Given the description of an element on the screen output the (x, y) to click on. 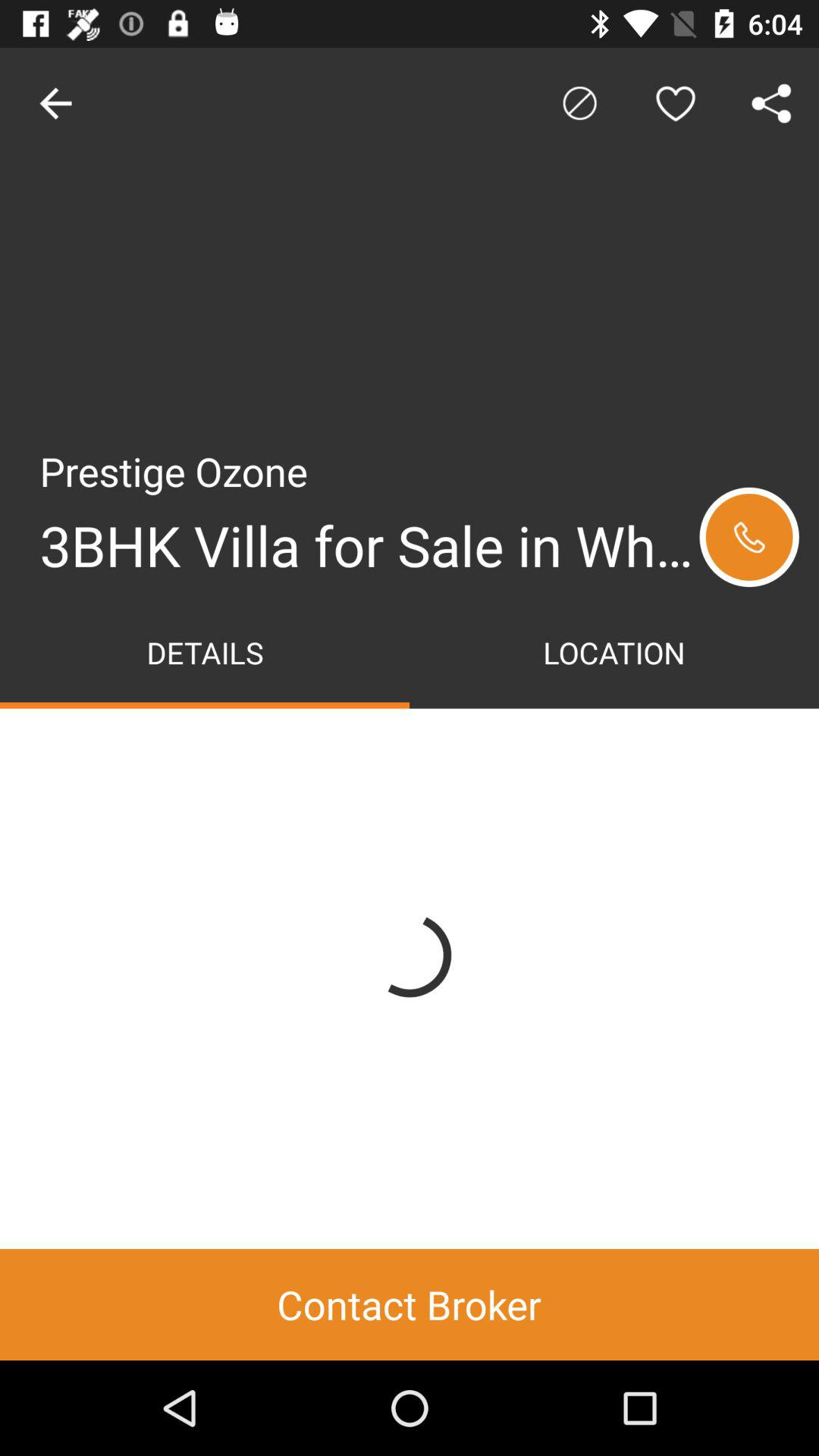
to go rtt (749, 536)
